Given the description of an element on the screen output the (x, y) to click on. 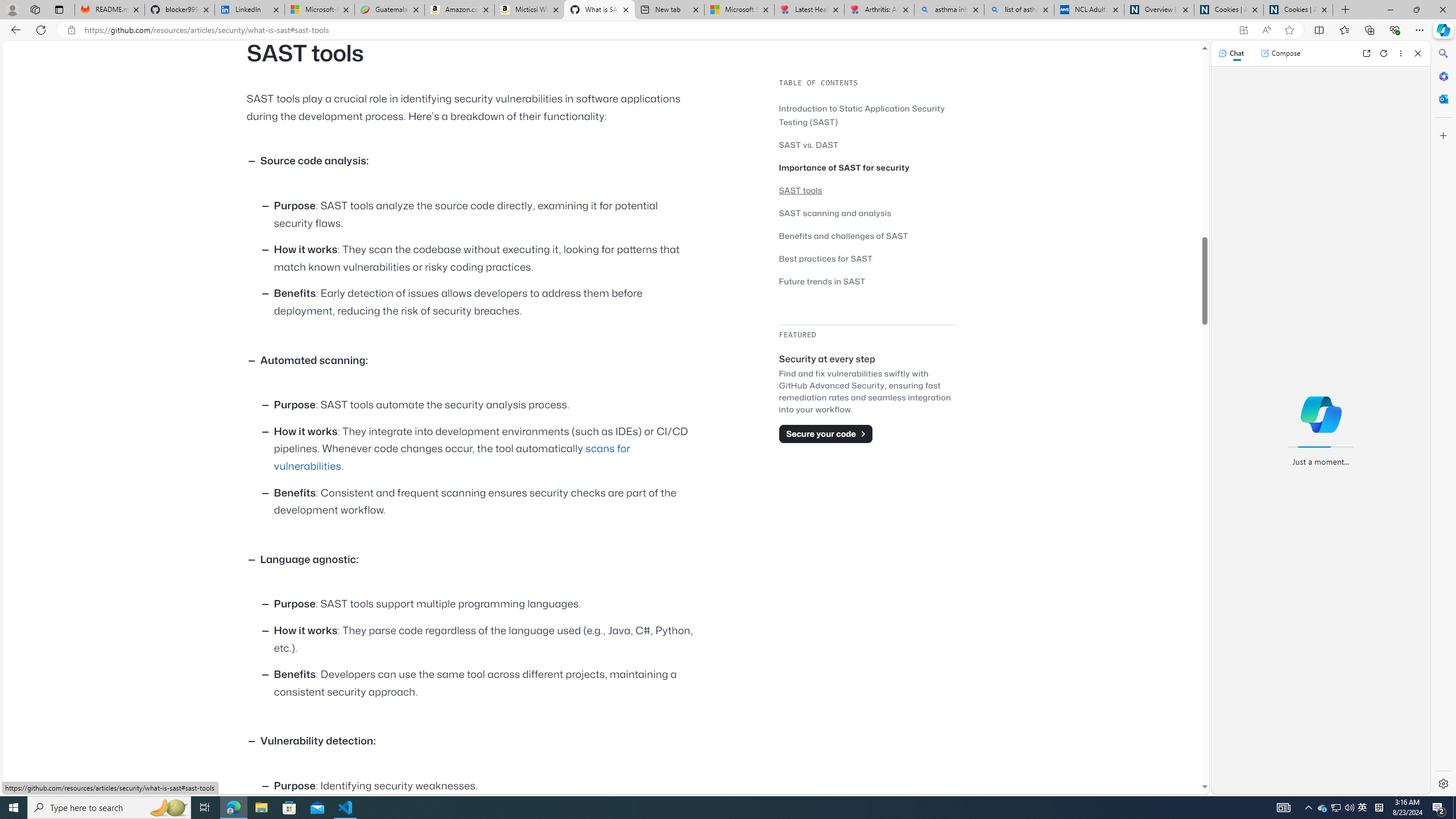
Introduction to Static Application Security Testing (SAST) (861, 114)
SAST tools (800, 189)
Importance of SAST for security (844, 166)
Cookies | About | NICE (1297, 9)
Benefits and challenges of SAST (843, 235)
SAST scanning and analysis (834, 212)
Best practices for SAST (867, 258)
